Given the description of an element on the screen output the (x, y) to click on. 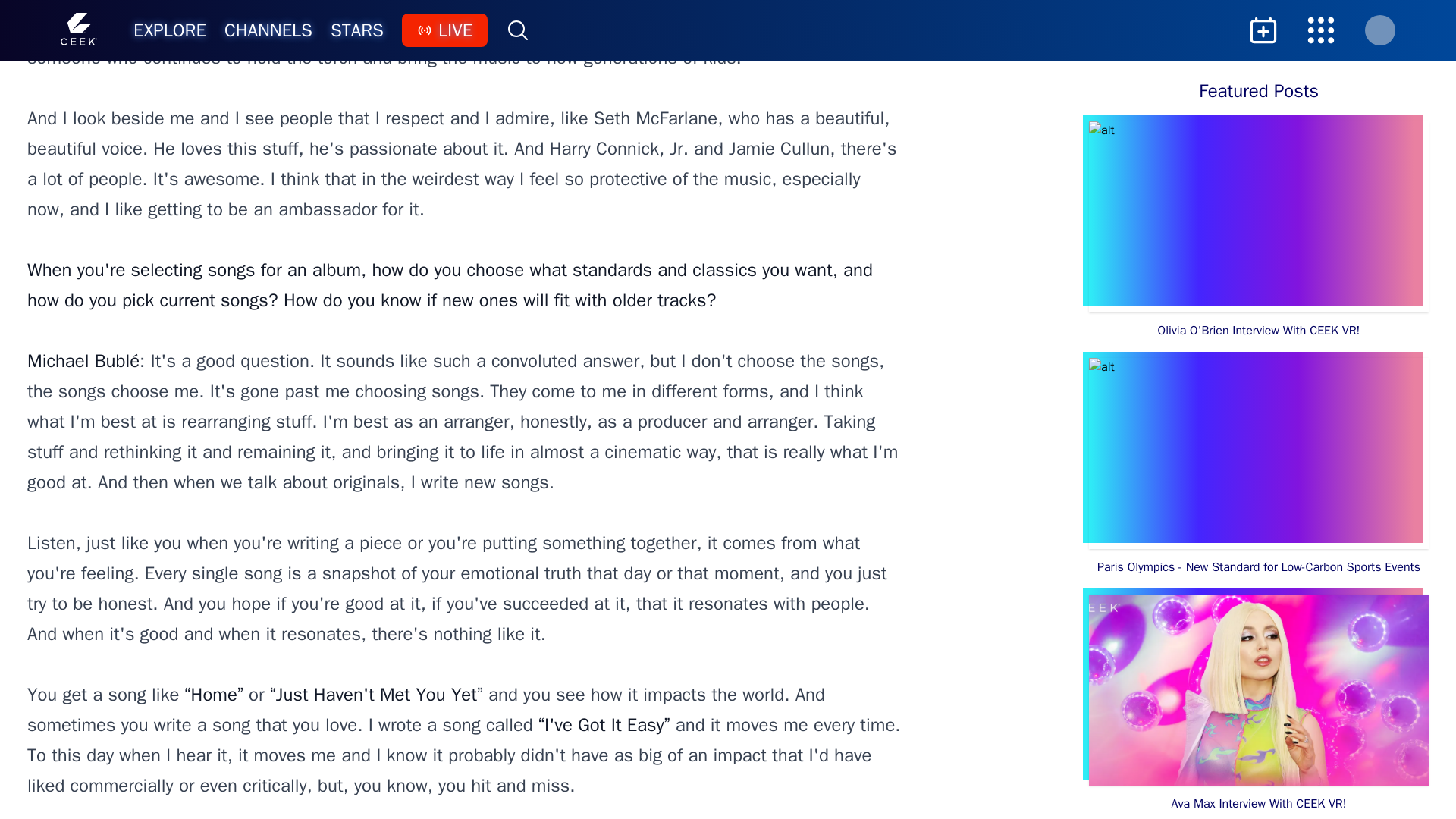
Paris Olympics - New Standard for Low-Carbon Sports Events (1258, 466)
Olivia O'Brien Interview With CEEK VR! (1258, 230)
Ava Max Interview With CEEK VR! (1258, 703)
Jimmy Eat World Interview With CEEK VR! (1258, 31)
